Given the description of an element on the screen output the (x, y) to click on. 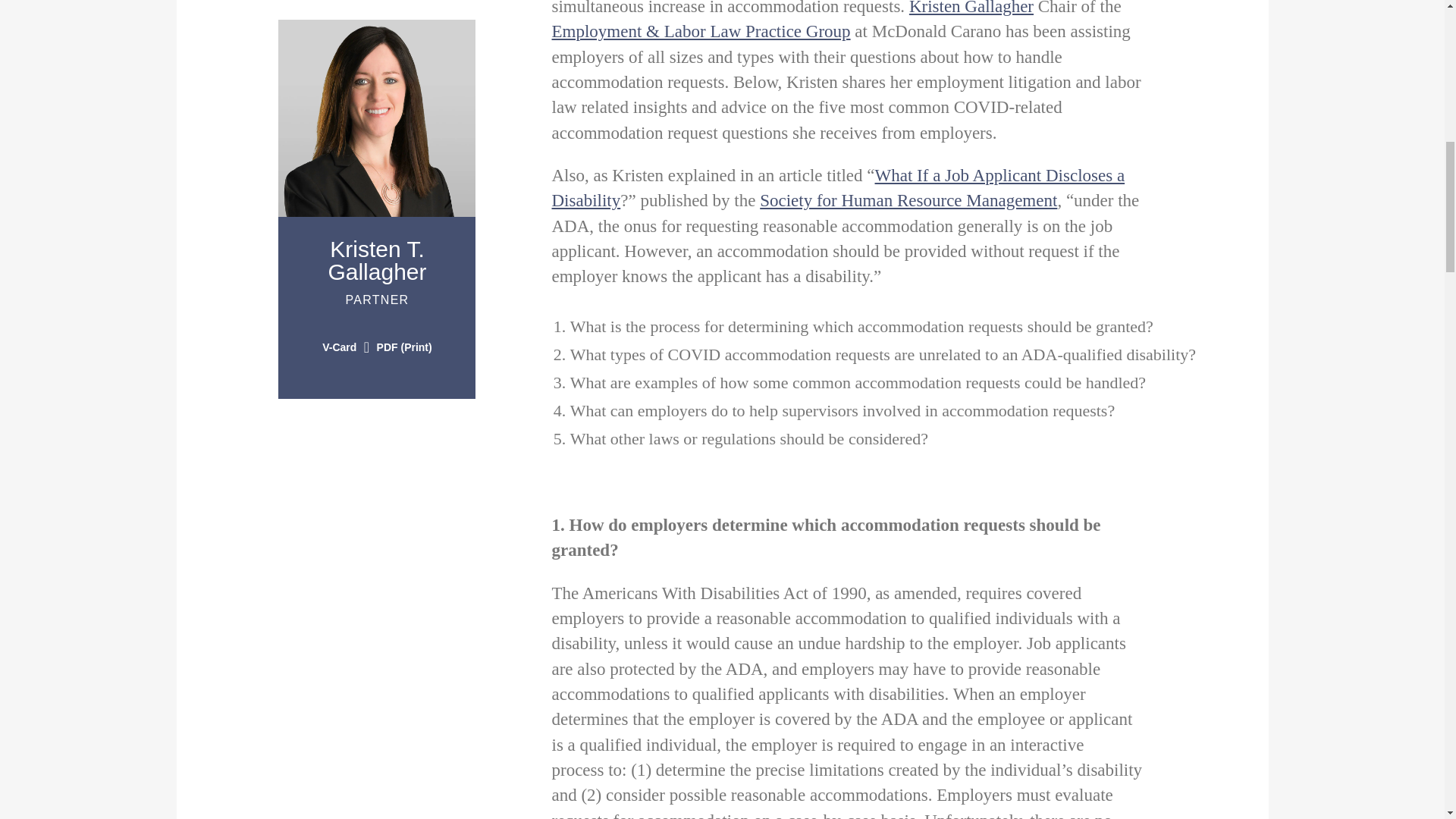
V-Card (338, 346)
PARTNER (376, 260)
Society for Human Resource Management (377, 307)
What If a Job Applicant Discloses a Disability (908, 199)
Kristen Gallagher (838, 187)
